Given the description of an element on the screen output the (x, y) to click on. 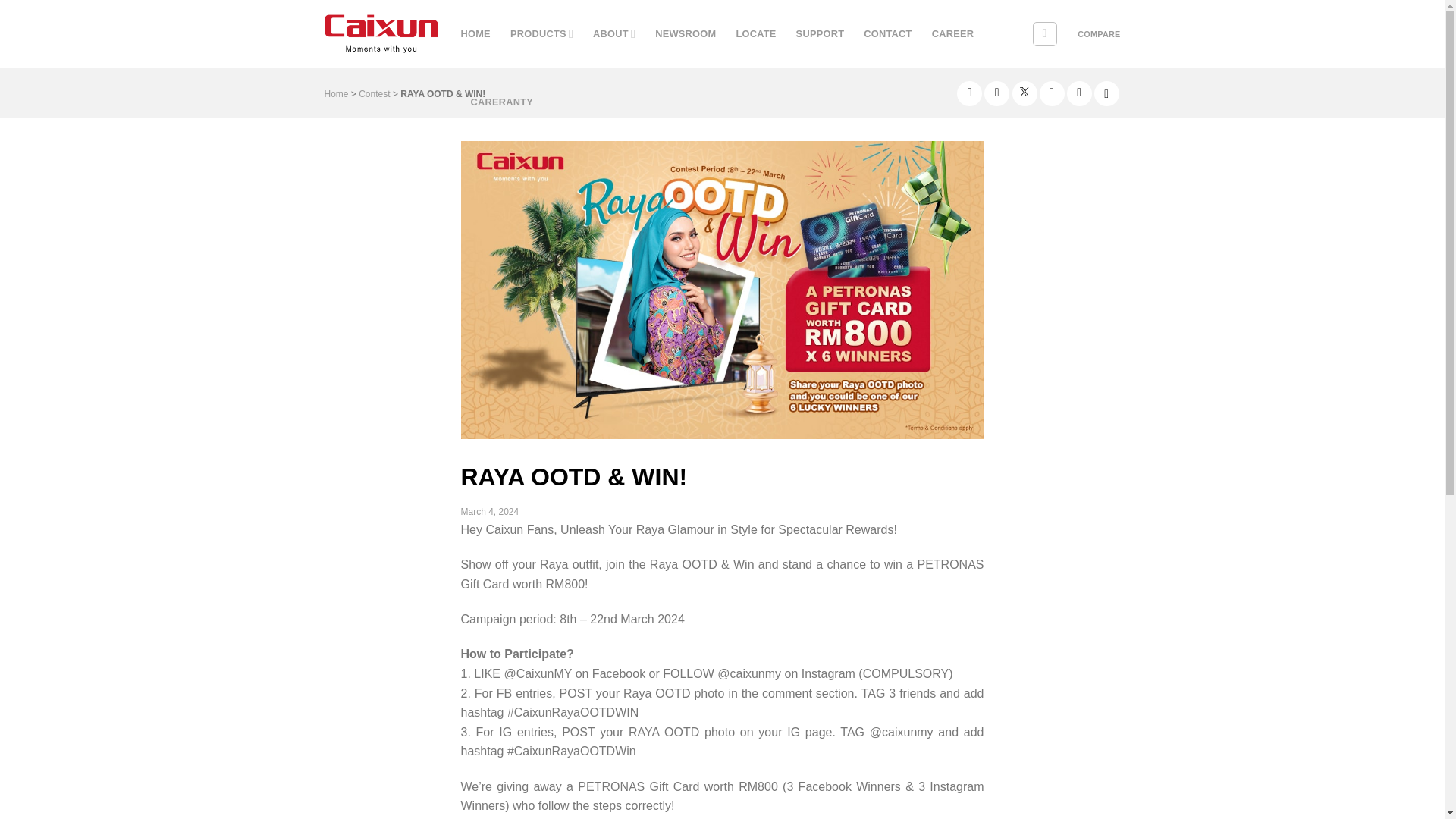
Share on Facebook (996, 93)
Caixun - Moments with you (381, 33)
Share on WhatsApp (968, 93)
Email to a Friend (1051, 93)
Share on Twitter (1023, 93)
PRODUCTS (542, 33)
Share on LinkedIn (1079, 93)
Copy URL (1106, 93)
